Given the description of an element on the screen output the (x, y) to click on. 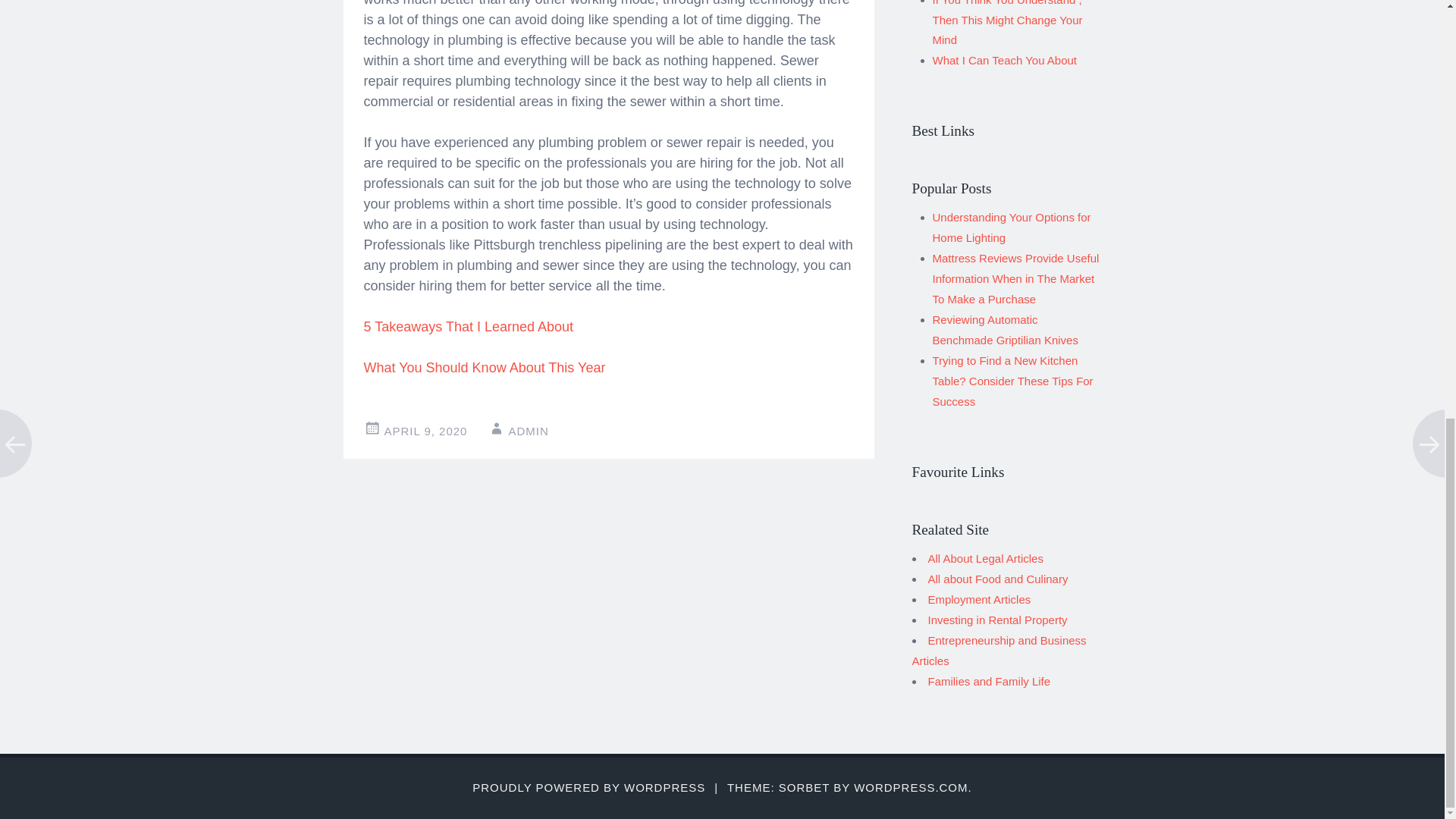
What You Should Know About This Year (484, 367)
7:45 pm (425, 431)
5 Takeaways That I Learned About (468, 326)
APRIL 9, 2020 (425, 431)
Understanding Your Options for Home Lighting (1011, 227)
View all posts by admin (528, 431)
ADMIN (528, 431)
Reviewing Automatic Benchmade Griptilian Knives (1005, 329)
What I Can Teach You About (1005, 60)
